Given the description of an element on the screen output the (x, y) to click on. 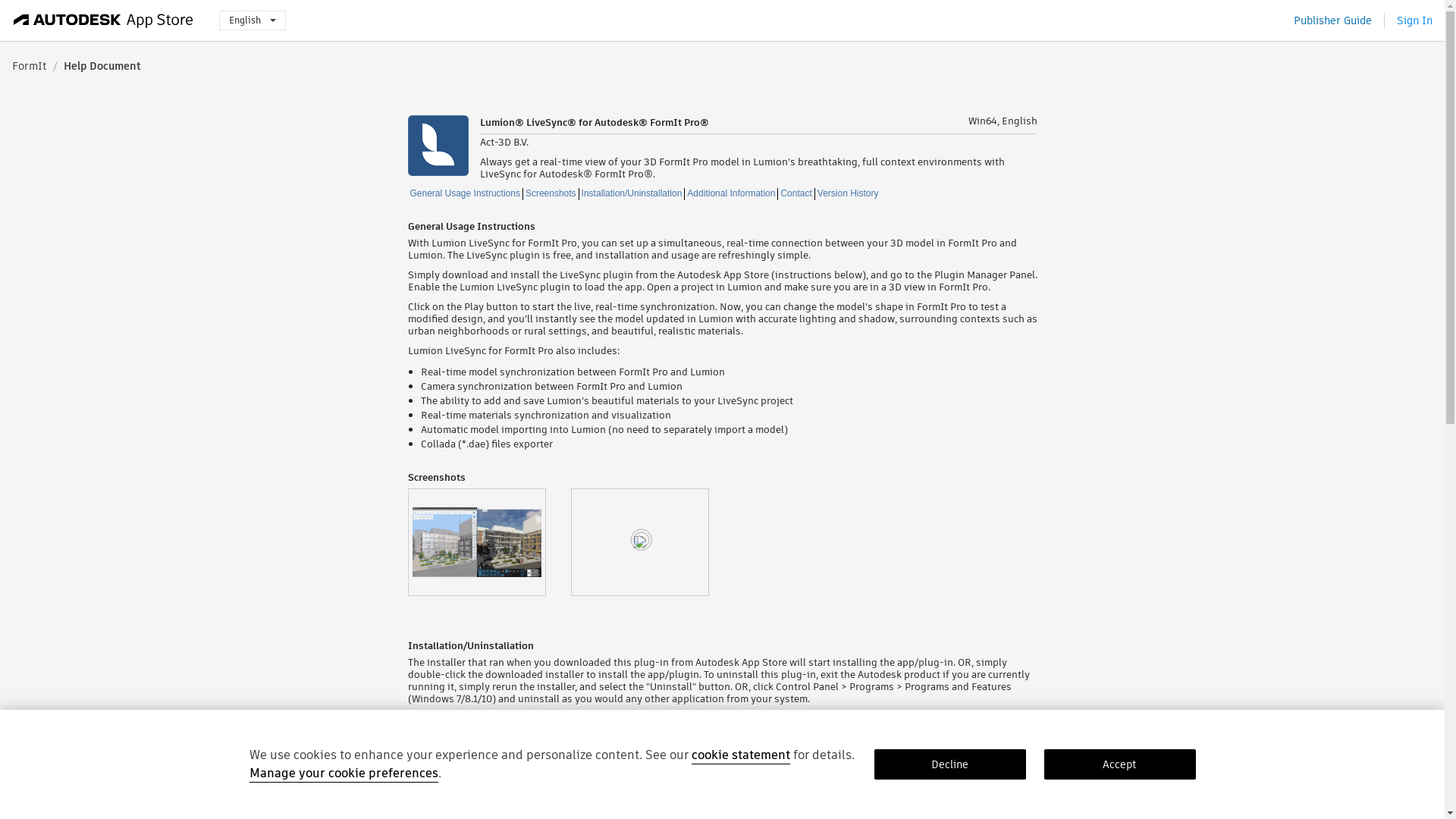
Autodesk App Store (103, 20)
Publisher Guide (1332, 20)
Additional Information (730, 193)
Version History (847, 193)
Knowledge Base article (657, 812)
FormIt (28, 65)
Screenshots (550, 193)
English (252, 20)
General Usage Instructions (464, 193)
Sign In (1414, 20)
Contact (795, 193)
